Given the description of an element on the screen output the (x, y) to click on. 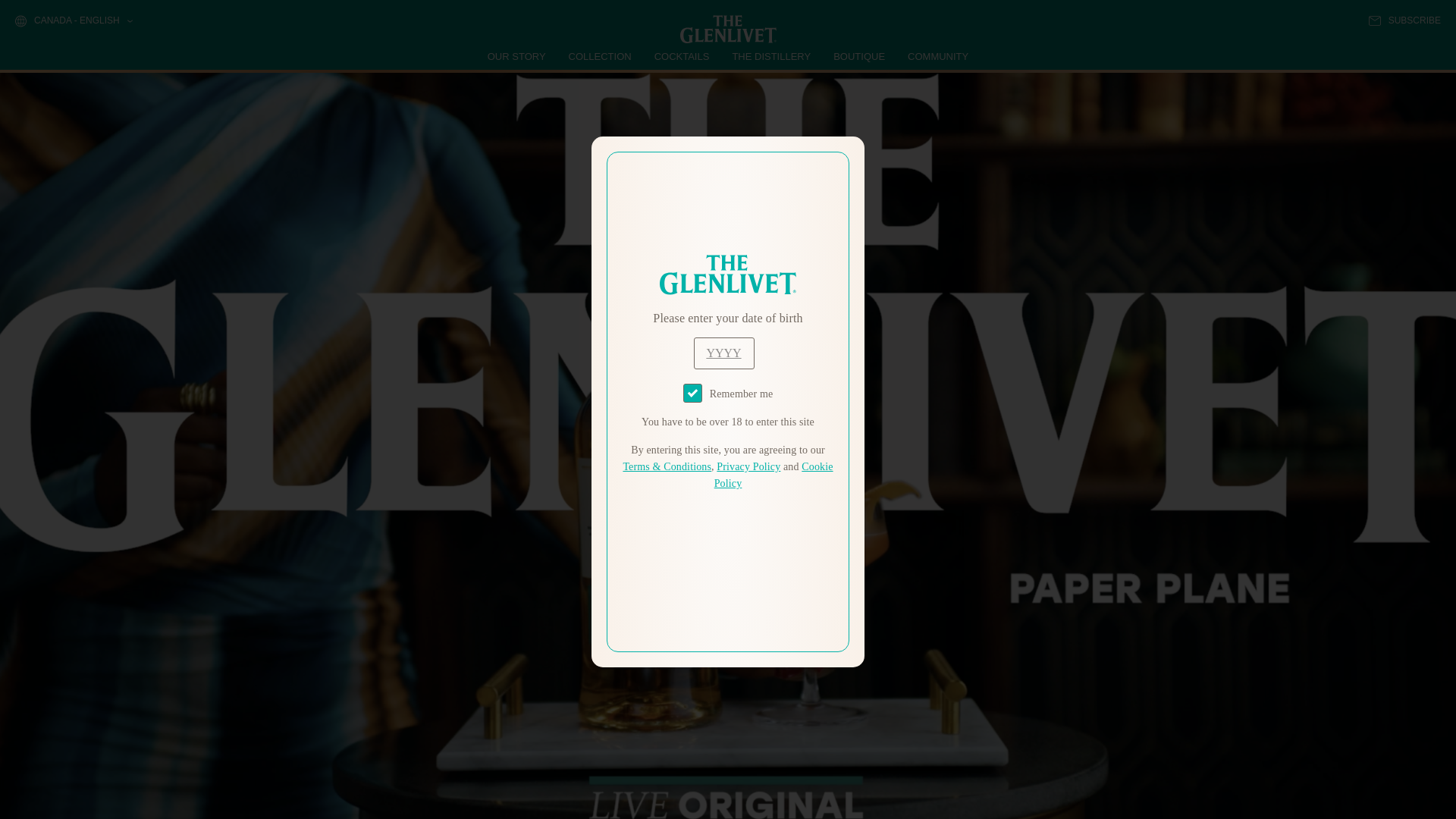
CANADA - ENGLISH (73, 21)
SUBSCRIBE (1404, 20)
THE DISTILLERY (771, 56)
Privacy Policy (748, 466)
year (723, 353)
COMMUNITY (937, 56)
Cookie Policy (773, 474)
OUR STORY (516, 56)
BOUTIQUE (858, 56)
COLLECTION (600, 56)
COCKTAILS (681, 56)
